Given the description of an element on the screen output the (x, y) to click on. 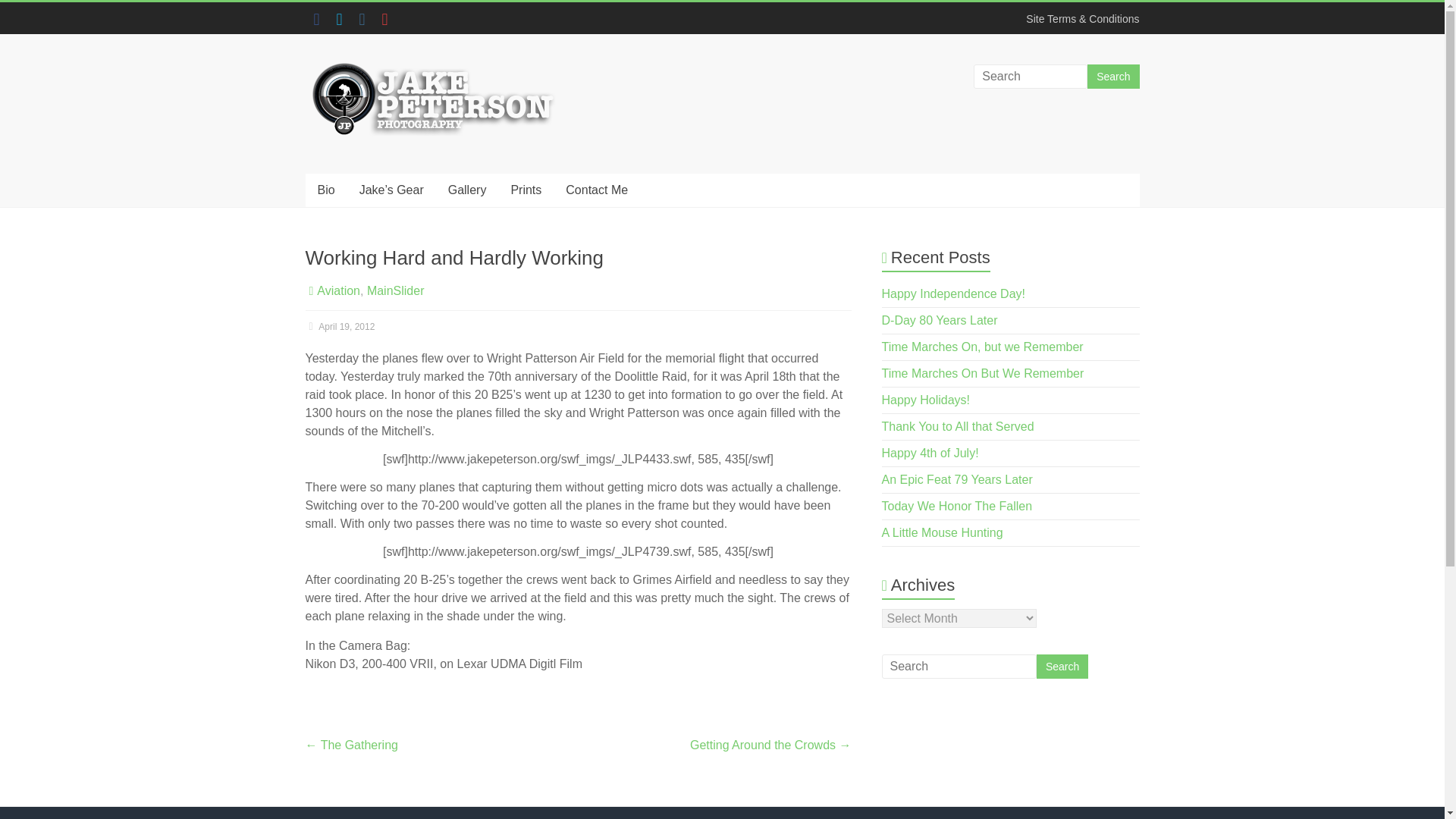
An Epic Feat 79 Years Later (957, 479)
Happy Independence Day! (953, 293)
Search (1112, 76)
Time Marches On, but we Remember (982, 346)
Happy 4th of July! (930, 452)
Time Marches On But We Remember (983, 373)
Thank You to All that Served (957, 426)
Gallery (467, 190)
Aviation (338, 290)
April 19, 2012 (339, 326)
